Given the description of an element on the screen output the (x, y) to click on. 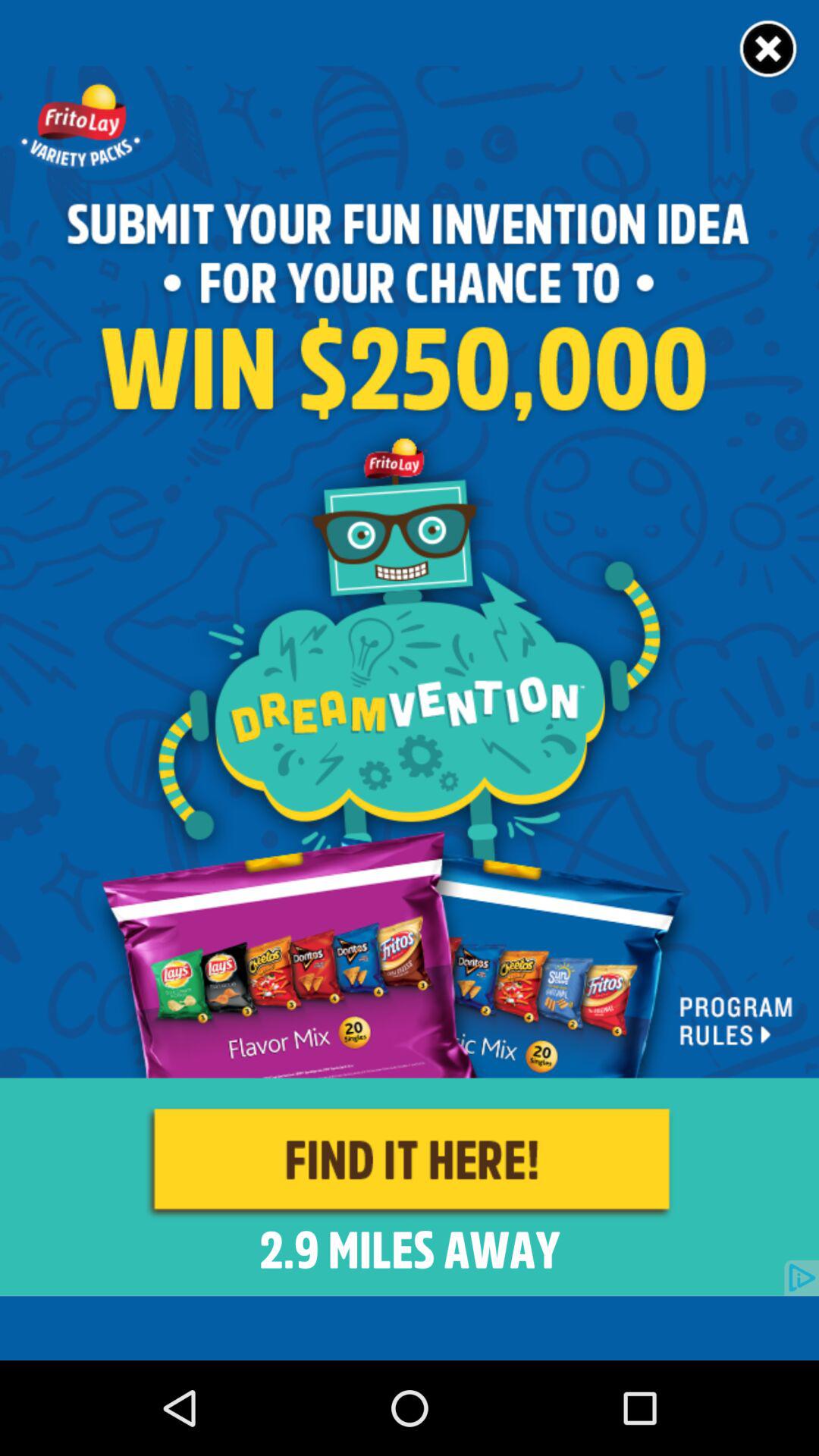
advertisement close button (769, 49)
